Given the description of an element on the screen output the (x, y) to click on. 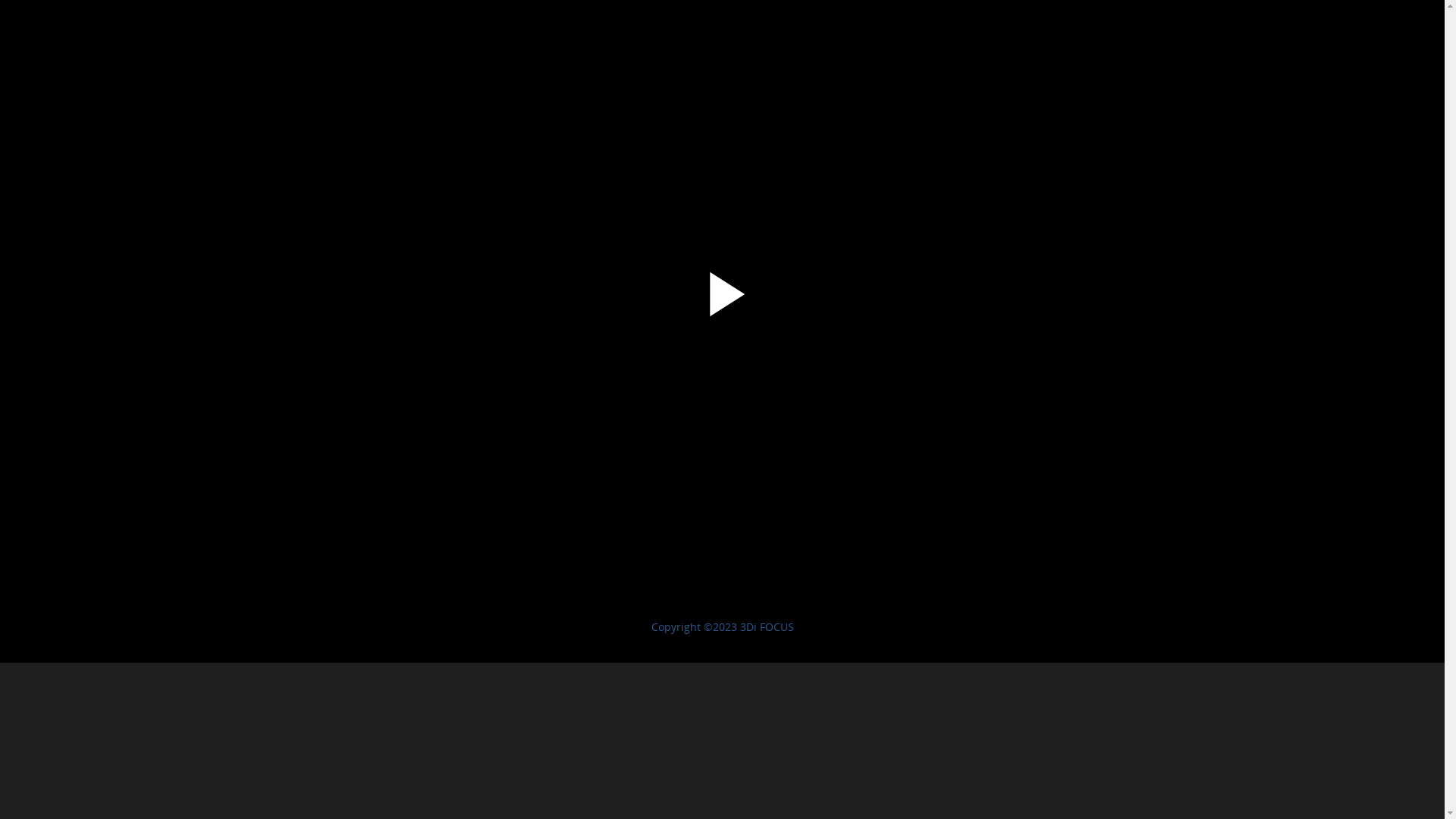
Video Player Element type: hover (722, 316)
